Given the description of an element on the screen output the (x, y) to click on. 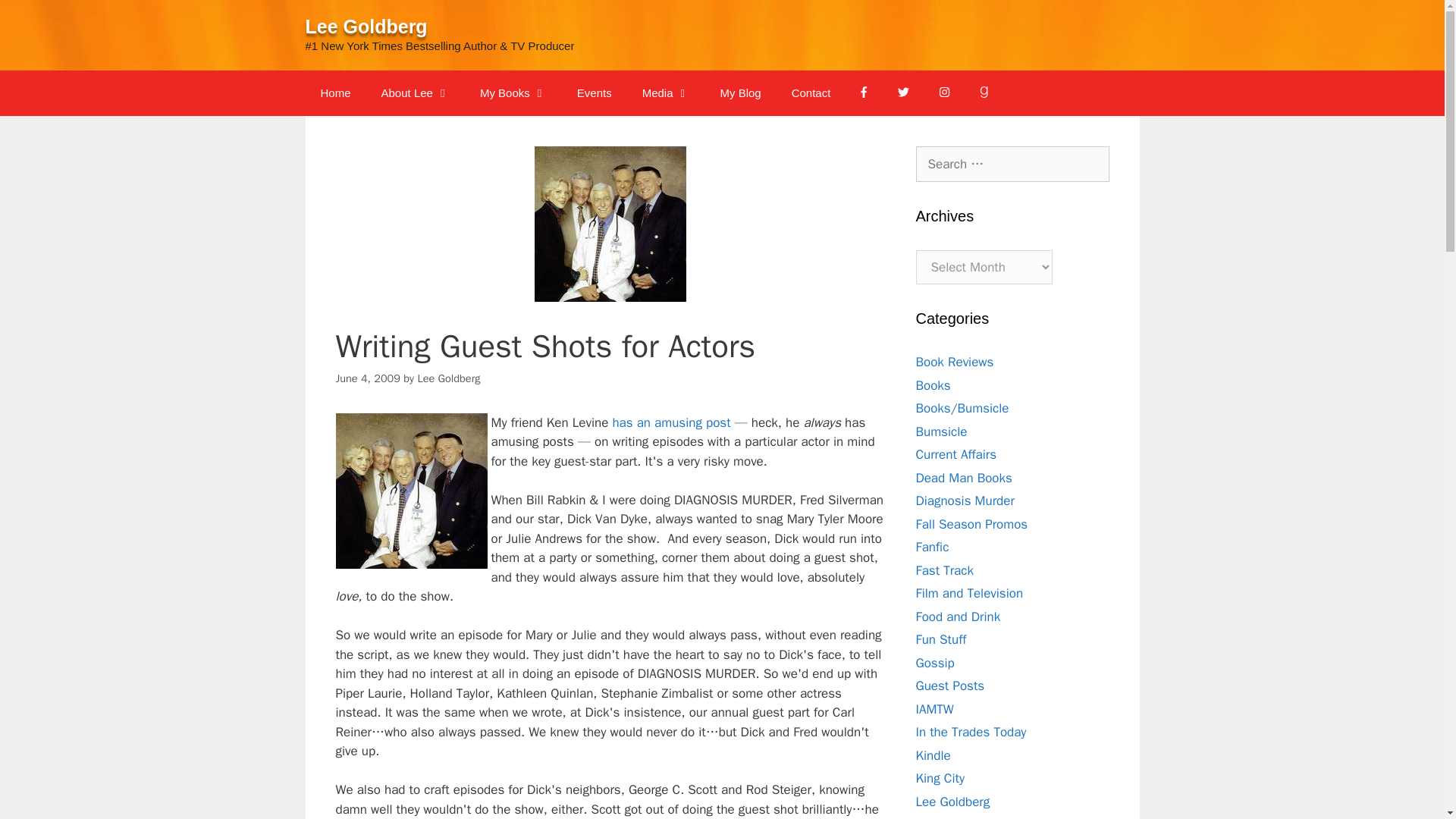
About Lee (415, 92)
View all posts by Lee Goldberg (448, 377)
Media (665, 92)
Home (334, 92)
My Blog (740, 92)
Events (594, 92)
Search for: (1012, 163)
My Books (513, 92)
Contact (810, 92)
Lee Goldberg (365, 25)
